Given the description of an element on the screen output the (x, y) to click on. 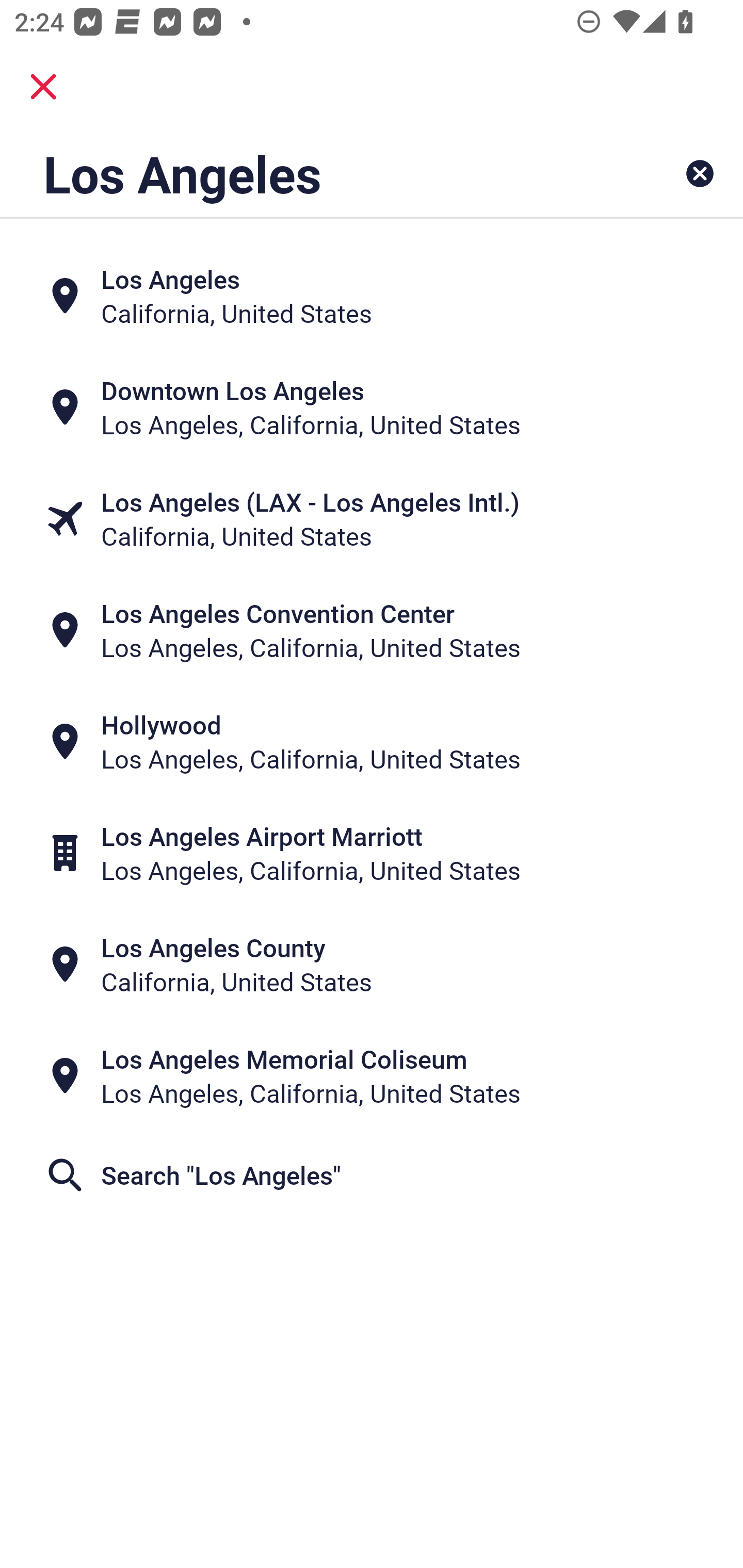
close. (43, 86)
Clear (699, 173)
Los Angeles (306, 173)
Los Angeles California, United States (371, 295)
Hollywood Los Angeles, California, United States (371, 742)
Los Angeles County California, United States (371, 964)
Search "Los Angeles" (371, 1175)
